Given the description of an element on the screen output the (x, y) to click on. 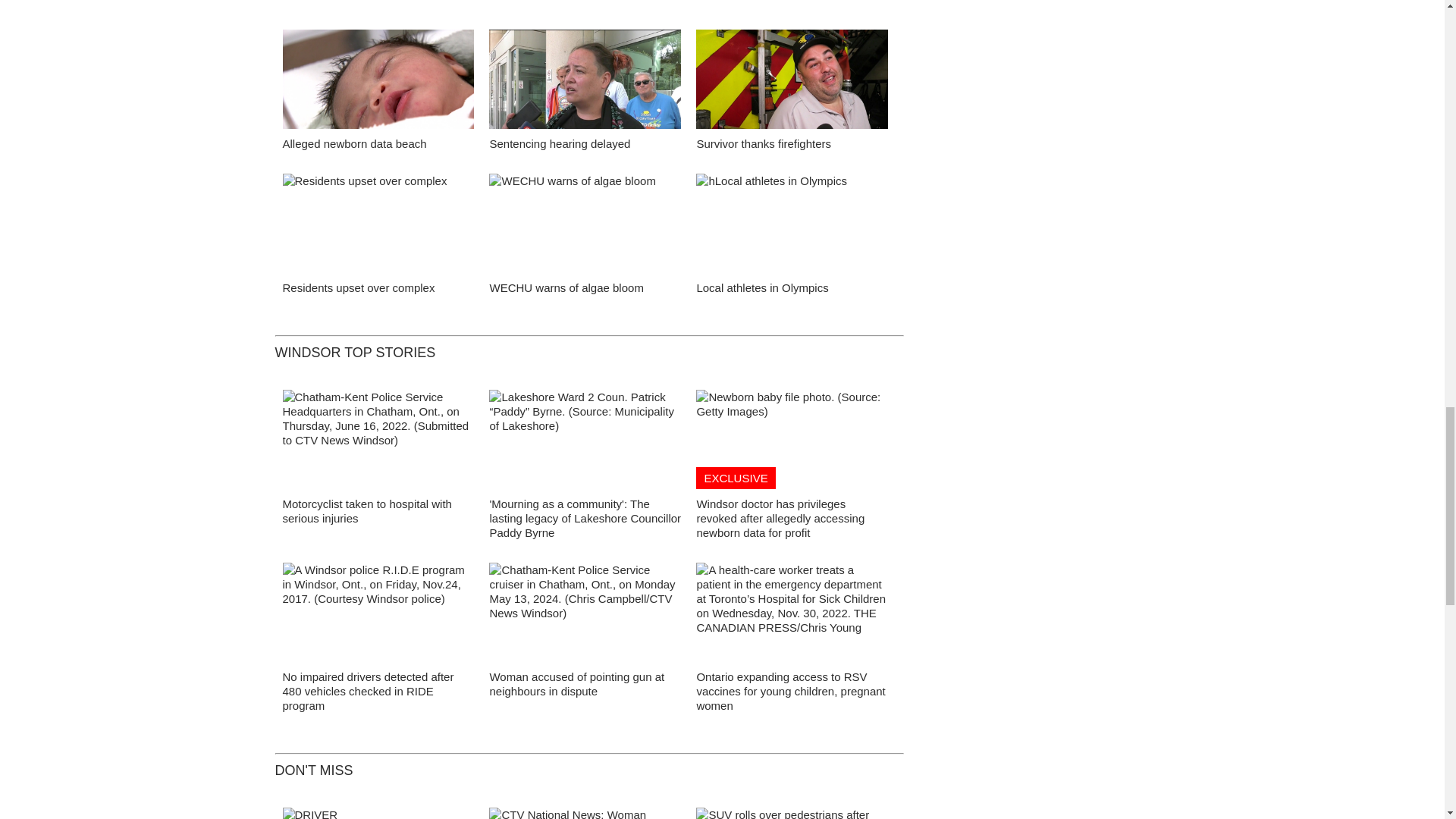
Residents upset over complex (357, 287)
Motorcyclist taken to hospital with serious injuries (366, 510)
Two disruptions at what was supposed to be a sente (585, 83)
false (378, 78)
Survivor thanks firefighters (763, 143)
false (791, 78)
false (378, 222)
Chatham-Kent police (585, 616)
WECHU warns of algae bloom (585, 227)
Sentencing hearing delayed (559, 143)
false (791, 222)
Chatham-Kent police headquarters (378, 443)
Residents upset over complex (378, 227)
Man thanks firefighters (791, 83)
